Given the description of an element on the screen output the (x, y) to click on. 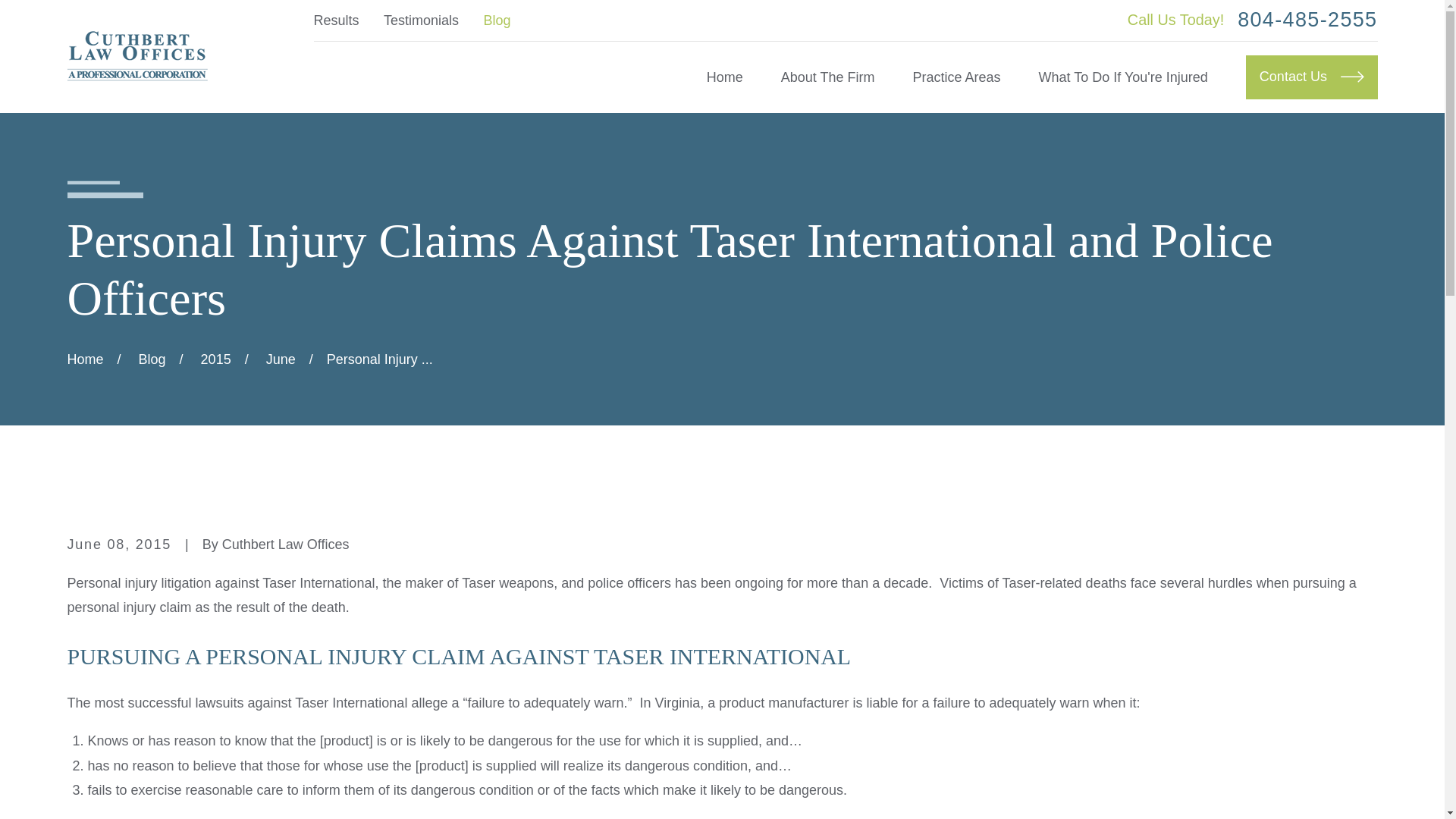
Home (724, 77)
Testimonials (421, 20)
Go Home (84, 359)
Blog (497, 20)
What To Do If You're Injured (1123, 77)
Cuthbert Law Offices (136, 56)
Practice Areas (956, 77)
Results (336, 20)
804-485-2555 (1307, 19)
About The Firm (827, 77)
Home (136, 56)
